Given the description of an element on the screen output the (x, y) to click on. 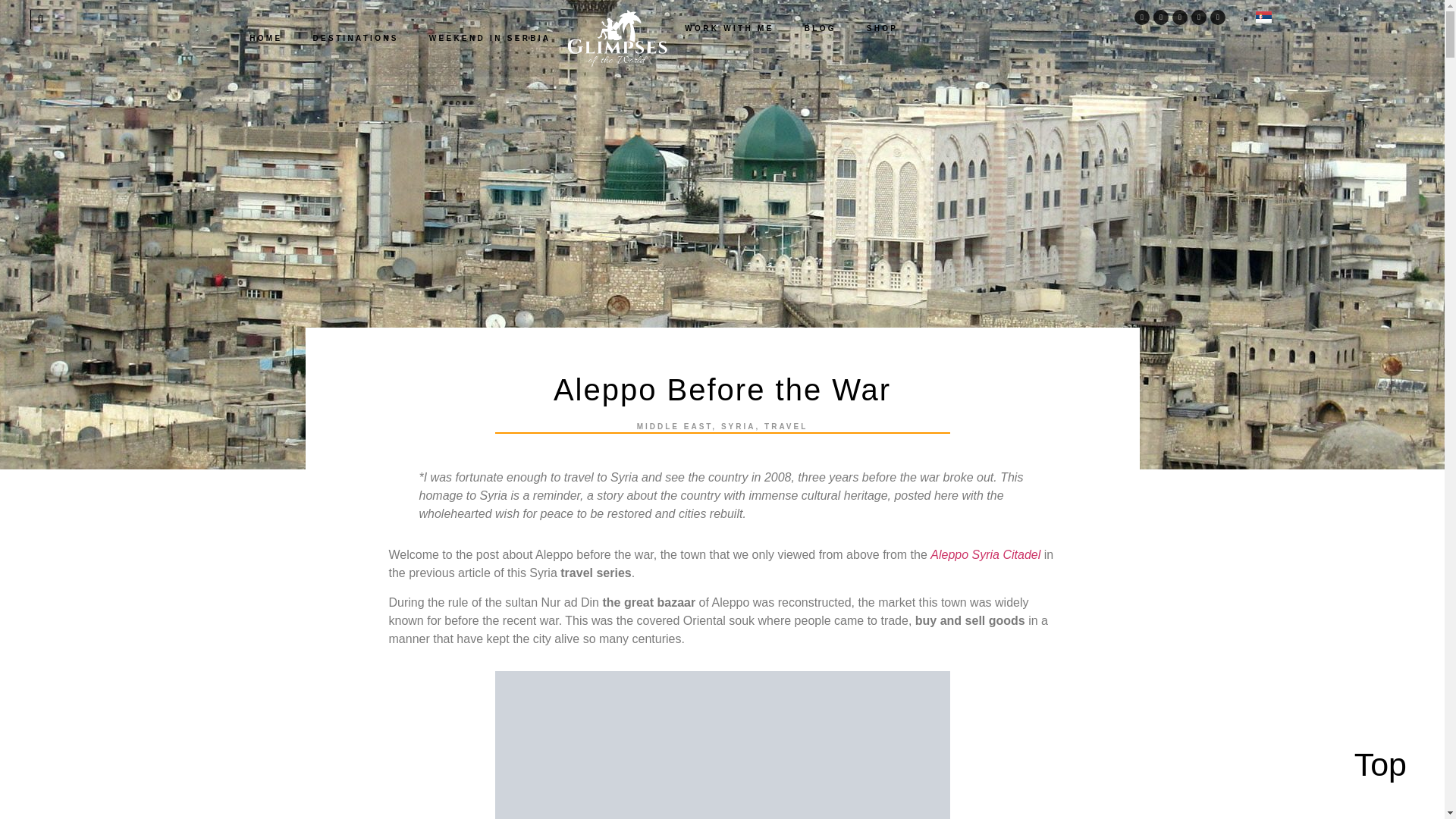
WEEKEND IN SERBIA (489, 37)
MIDDLE EAST (675, 426)
TRAVEL (786, 426)
Aleppo Syria Citadel (985, 554)
HOME (265, 37)
Aleppo Before the War 1 (722, 744)
SYRIA (737, 426)
Top (1380, 764)
BLOG (820, 27)
DESTINATIONS (355, 37)
